Given the description of an element on the screen output the (x, y) to click on. 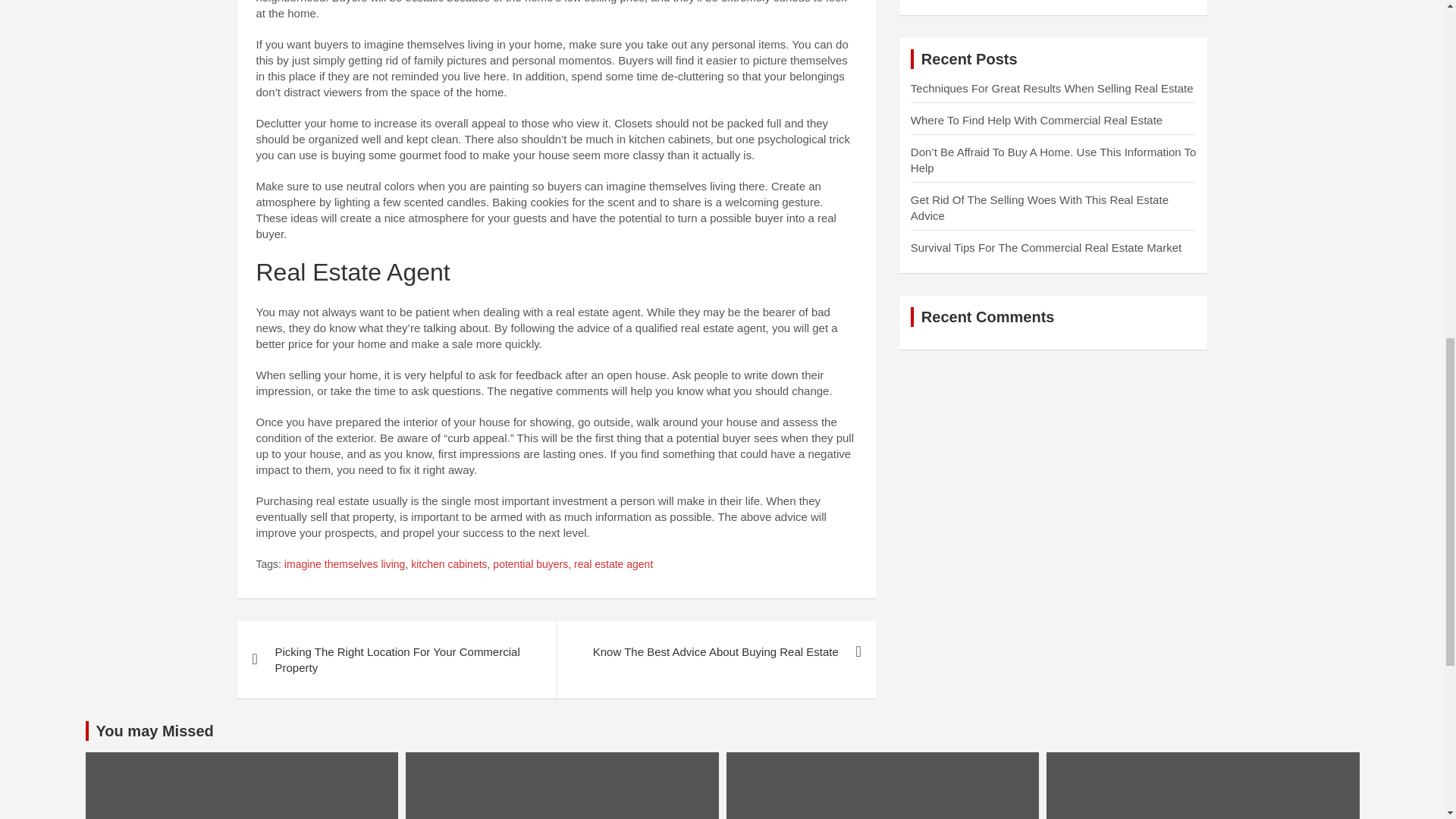
real estate agent (612, 564)
Survival Tips For The Commercial Real Estate Market (1045, 246)
Where To Find Help With Commercial Real Estate (1036, 119)
Get Rid Of The Selling Woes With This Real Estate Advice (1040, 207)
potential buyers (530, 564)
kitchen cabinets (448, 564)
Know The Best Advice About Buying Real Estate (716, 651)
Techniques For Great Results When Selling Real Estate (1052, 88)
Picking The Right Location For Your Commercial Property (395, 659)
imagine themselves living (344, 564)
